Given the description of an element on the screen output the (x, y) to click on. 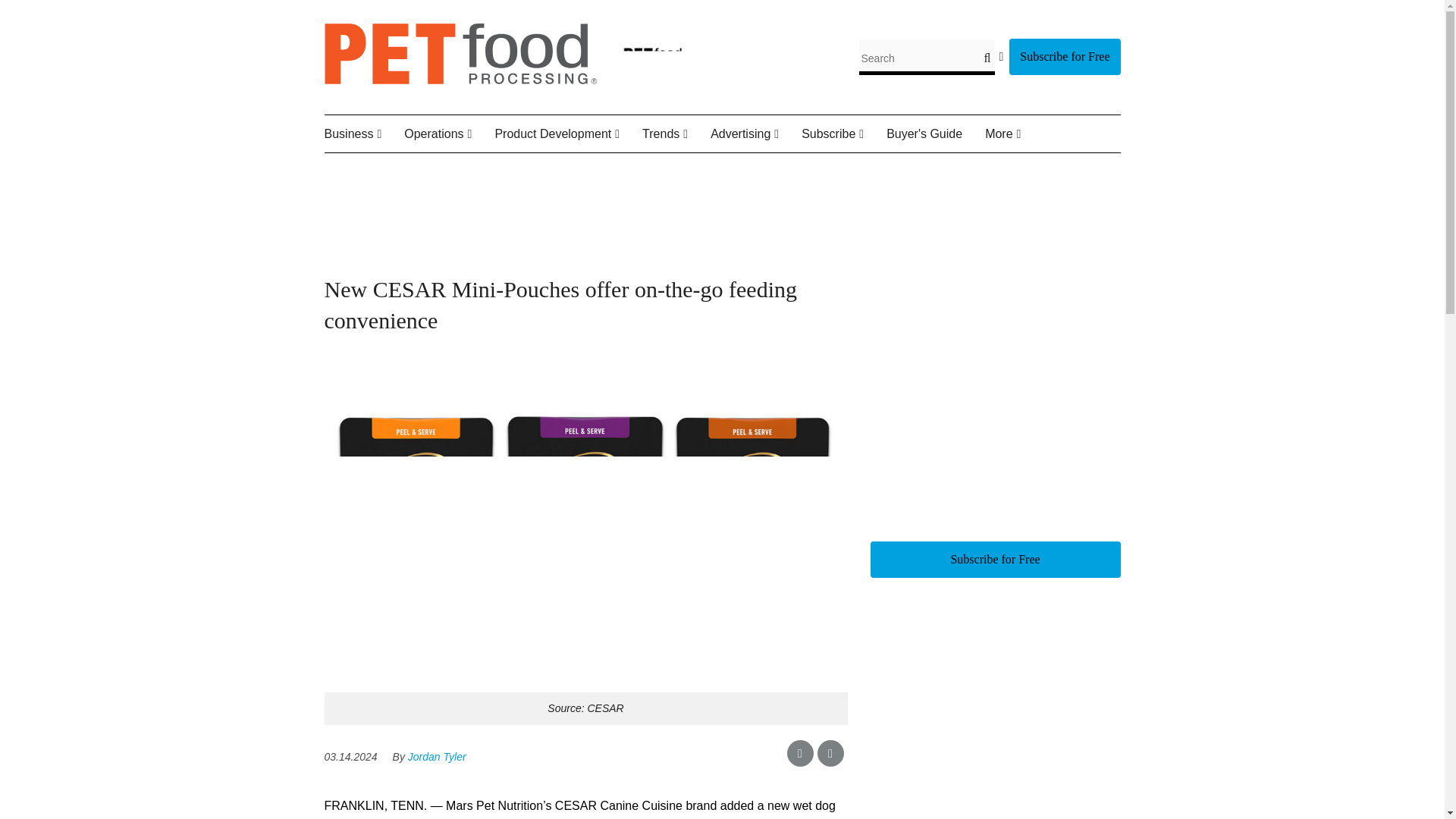
Companies (411, 169)
Patents (587, 169)
Subscribe for Free (1064, 56)
Petfood Processing (460, 80)
Regulatory (507, 169)
Packaging (499, 169)
Supply Chain (510, 169)
Equipment (480, 169)
Business (364, 134)
Product Development (568, 134)
People (427, 169)
Ingredients and Formulations (570, 180)
Facilities (488, 169)
Food Safety (494, 169)
Corporate Strategy (416, 169)
